Given the description of an element on the screen output the (x, y) to click on. 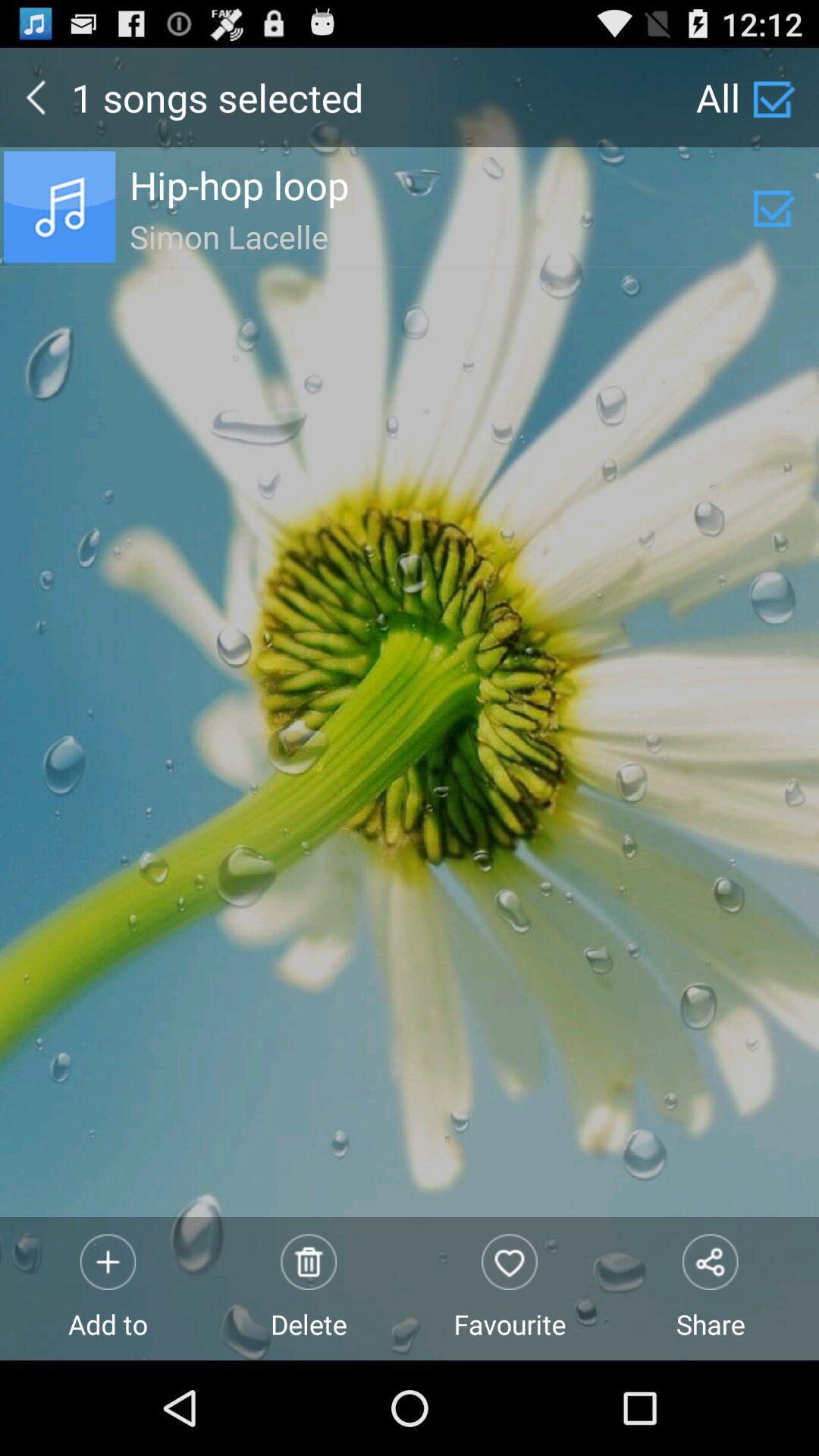
choose the app next to the delete (107, 1288)
